Given the description of an element on the screen output the (x, y) to click on. 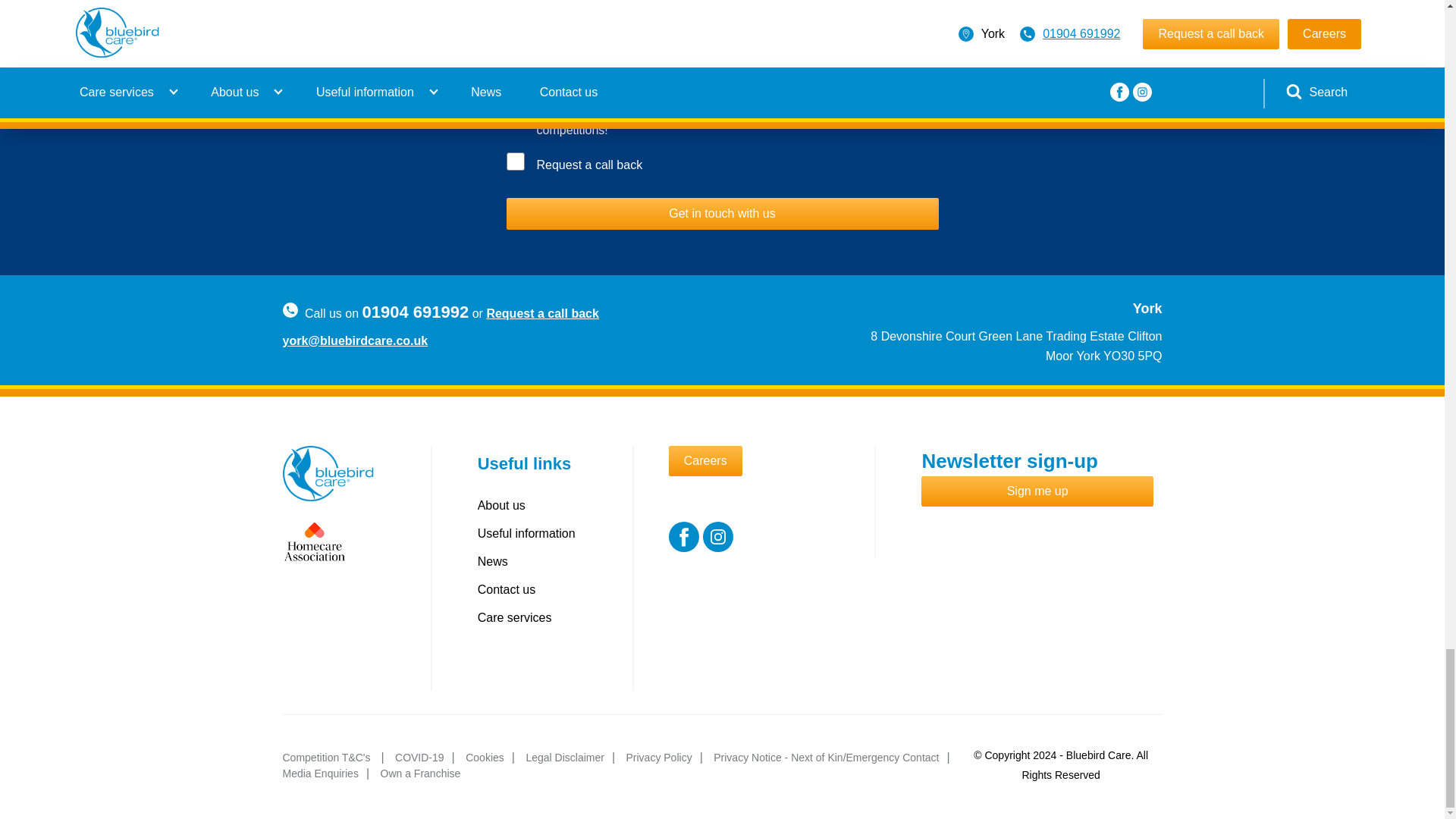
Please ensure that you provide a telephone number. (610, 165)
